Given the description of an element on the screen output the (x, y) to click on. 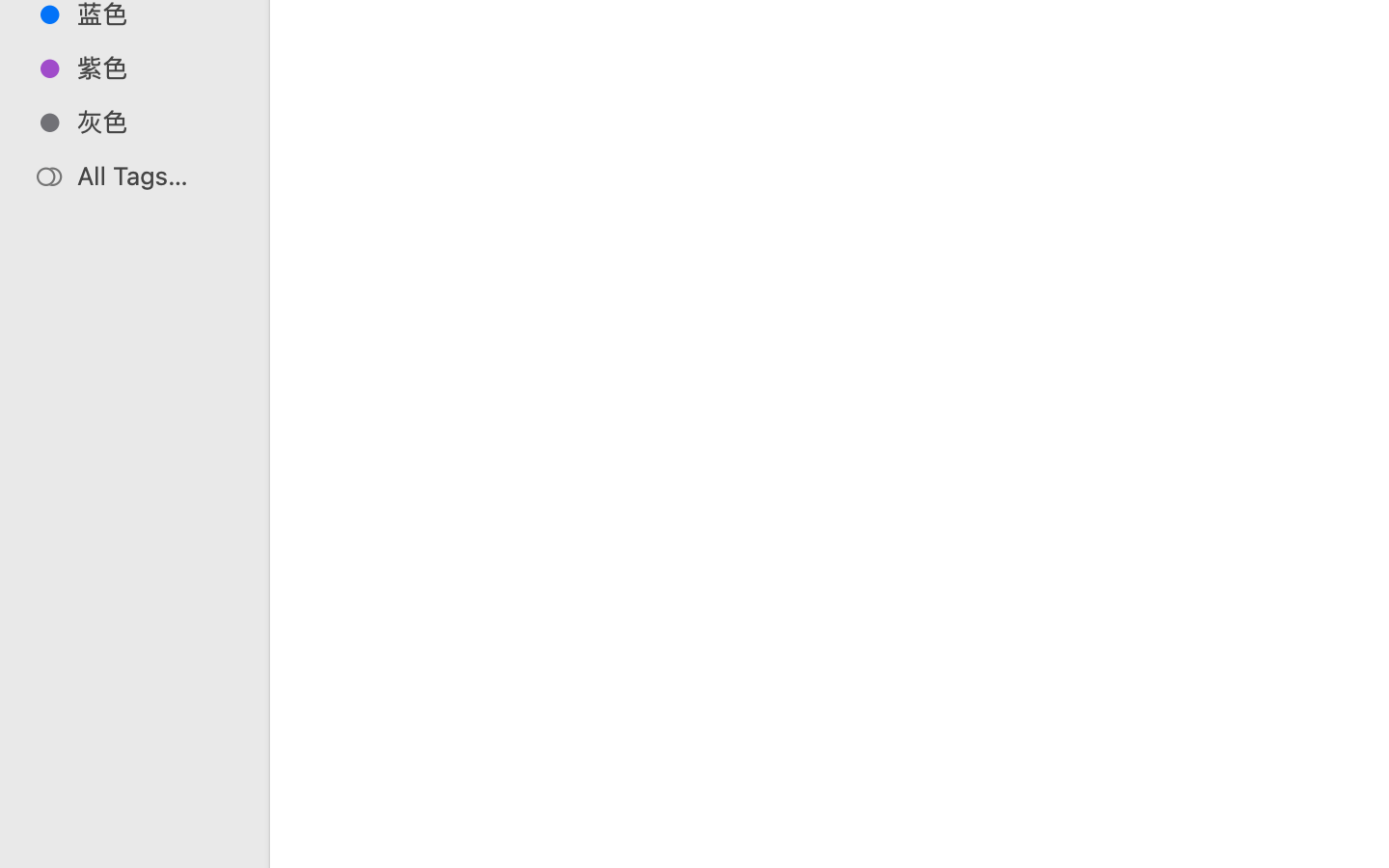
紫色 Element type: AXStaticText (155, 67)
Tags… Element type: AXStaticText (41, 852)
20240904_164557 Element type: AXStaticText (875, 786)
0 Element type: AXRadioButton (23, 846)
All Tags… Element type: AXStaticText (155, 175)
